Given the description of an element on the screen output the (x, y) to click on. 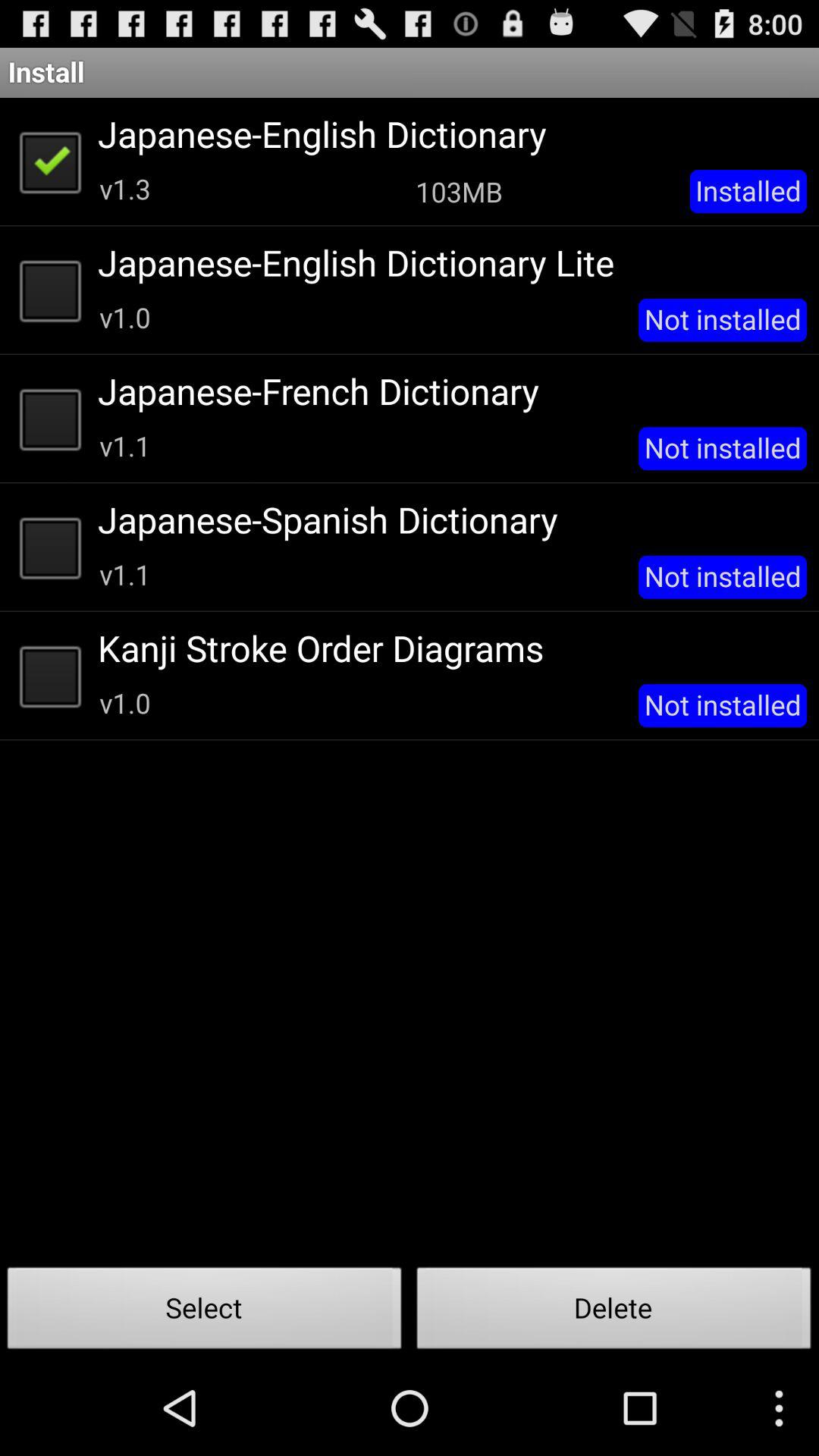
tap icon below japanese-english dictionary icon (458, 191)
